Given the description of an element on the screen output the (x, y) to click on. 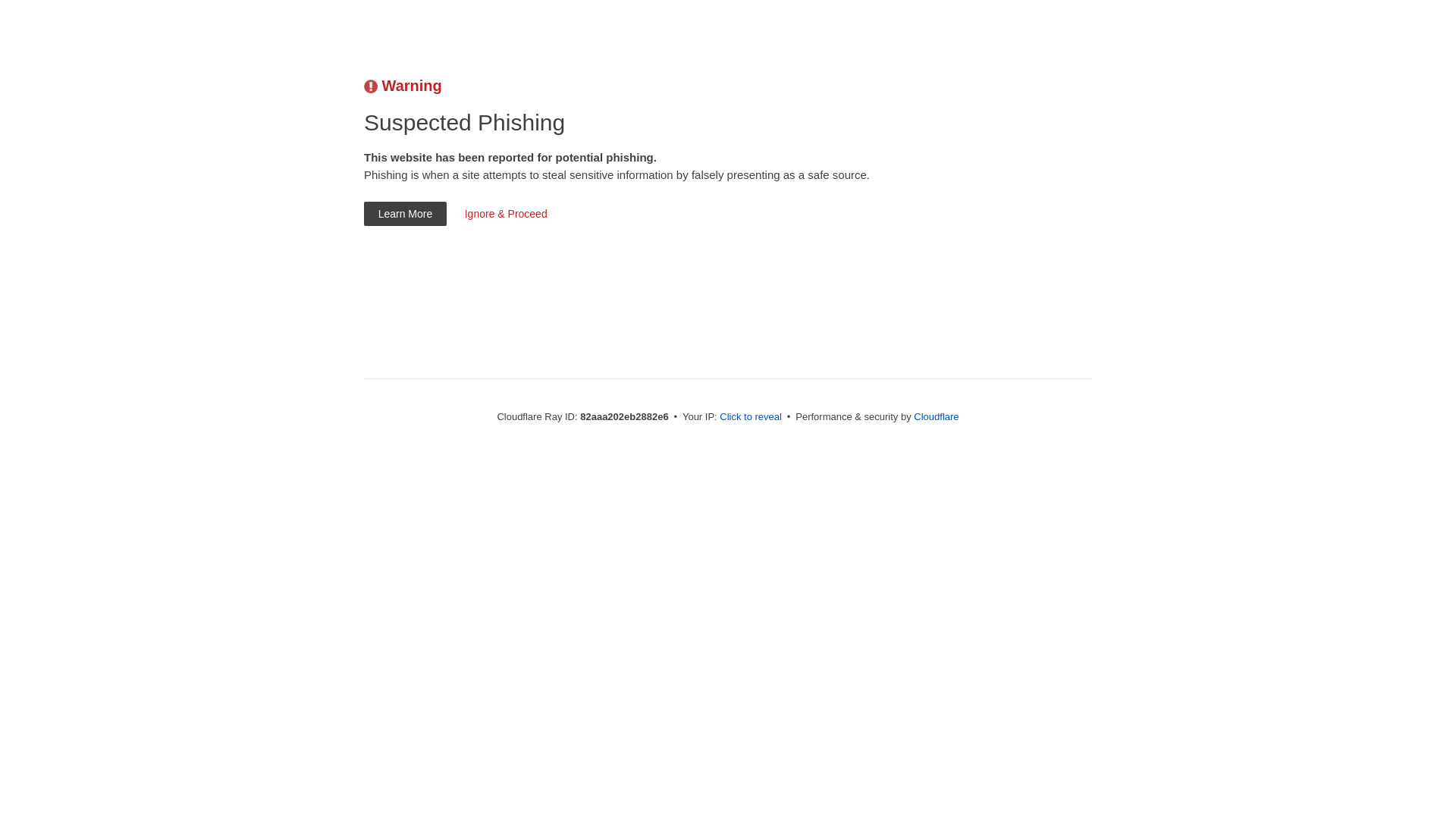
Learn More Element type: text (405, 213)
Ignore & Proceed Element type: text (505, 213)
Cloudflare Element type: text (935, 416)
Click to reveal Element type: text (750, 416)
